Given the description of an element on the screen output the (x, y) to click on. 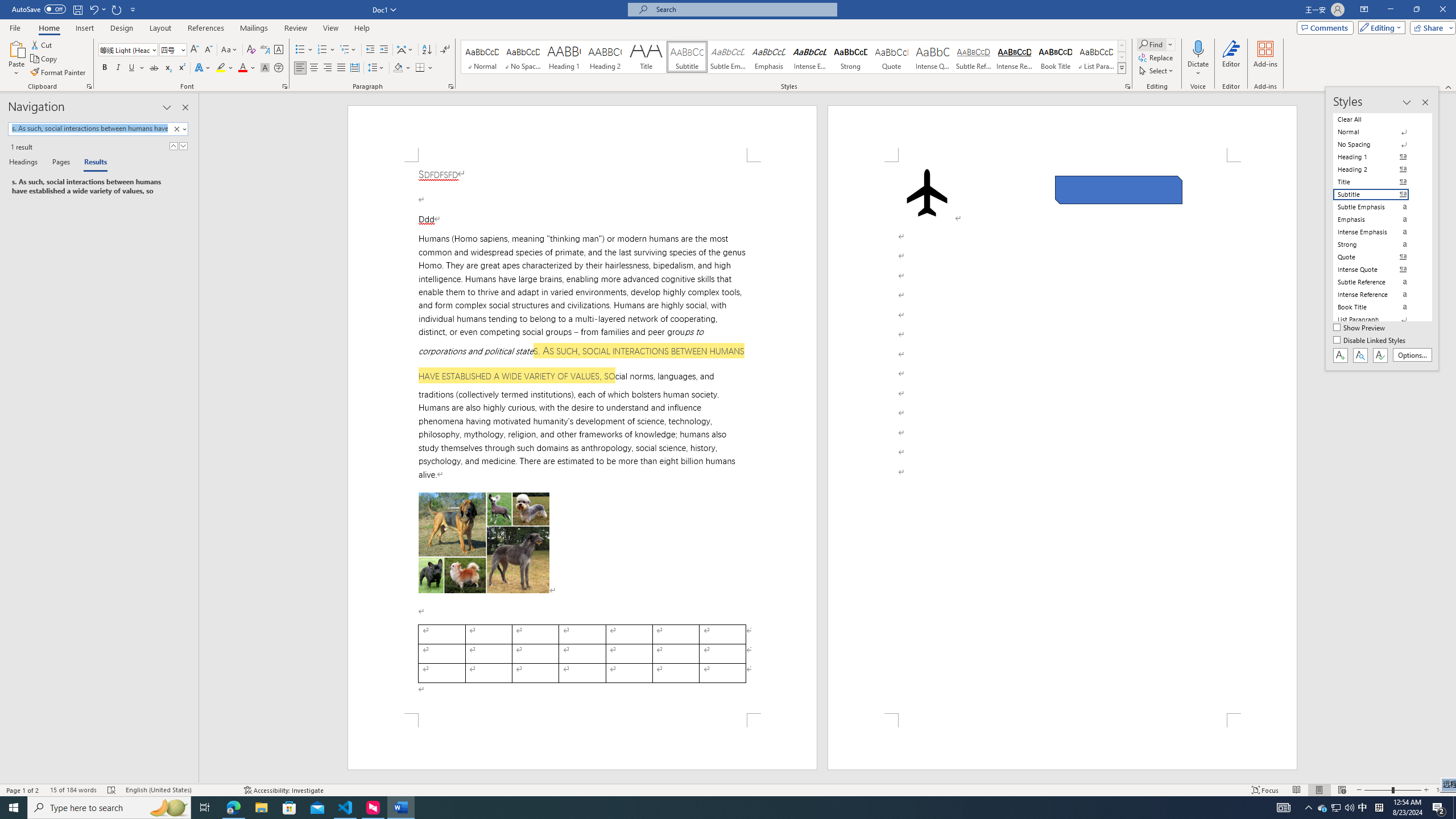
List Paragraph (1377, 319)
Emphasis (768, 56)
